Given the description of an element on the screen output the (x, y) to click on. 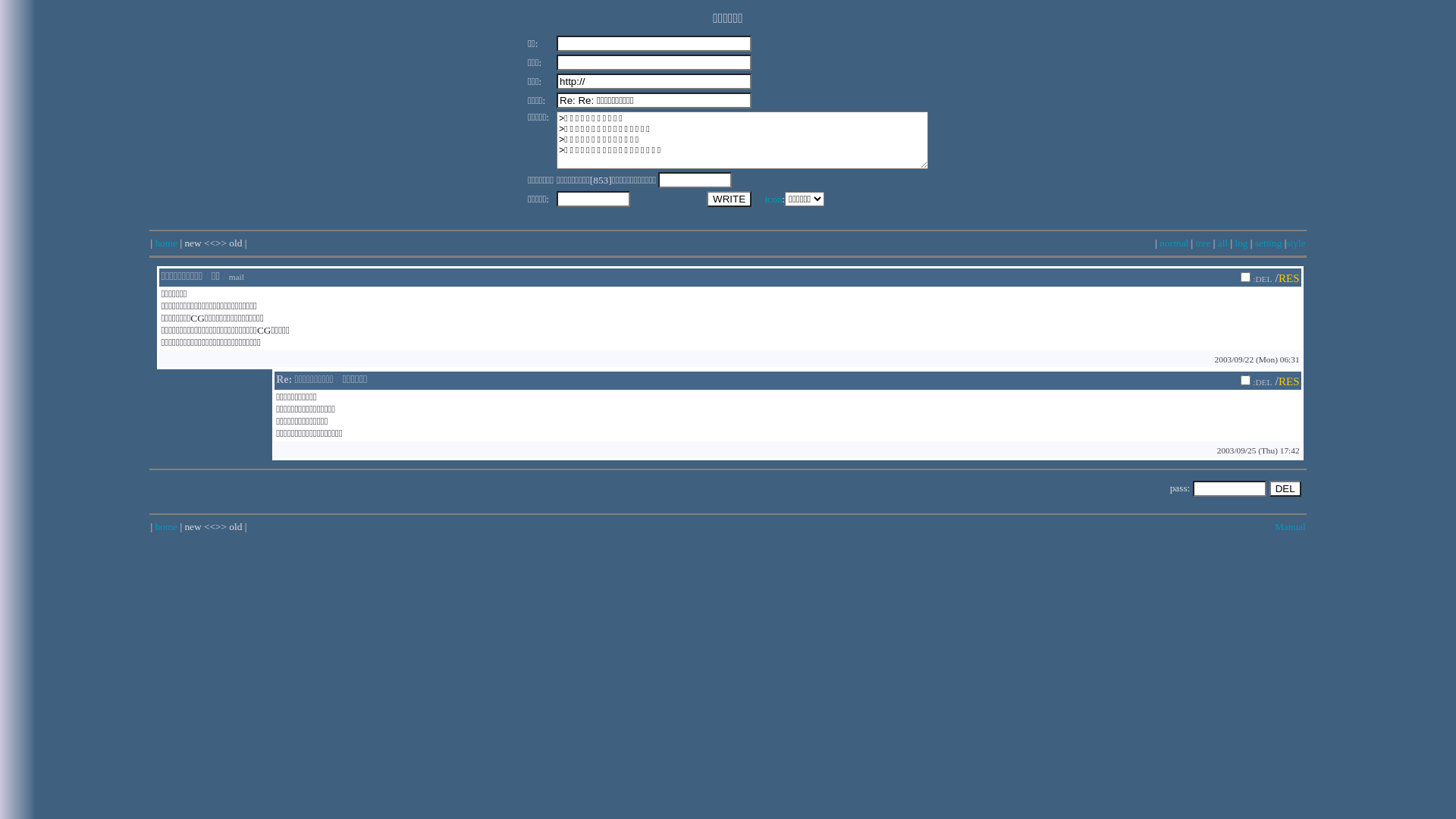
style Element type: text (1295, 242)
normal Element type: text (1173, 242)
mail Element type: text (236, 275)
home Element type: text (165, 242)
setting Element type: text (1268, 242)
home Element type: text (165, 526)
tree Element type: text (1202, 242)
RES Element type: text (1288, 380)
all Element type: text (1222, 242)
icon Element type: text (772, 198)
DEL Element type: text (1285, 488)
Manual Element type: text (1289, 526)
WRITE Element type: text (728, 199)
RES Element type: text (1288, 277)
log Element type: text (1240, 242)
